Given the description of an element on the screen output the (x, y) to click on. 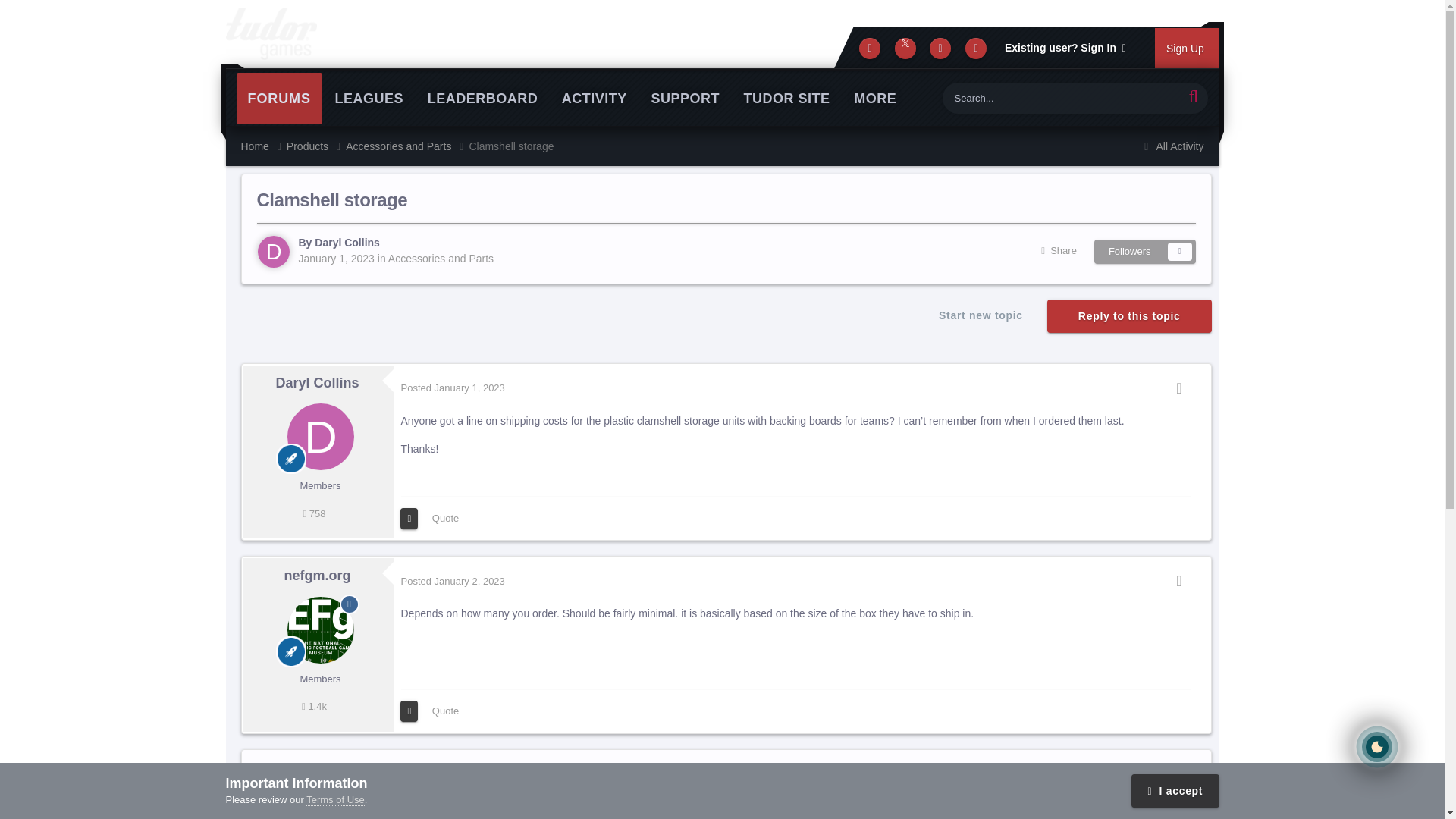
 Share (1058, 251)
Go to Daryl Collins's profile (272, 251)
Go to Daryl Collins's profile (316, 382)
Accessories and Parts (440, 258)
Sign in to follow this (1144, 251)
Home (263, 146)
Accessories and Parts (407, 146)
FORUMS (277, 98)
LEAGUES (369, 98)
LEADERBOARD (482, 98)
Sign Up (1187, 47)
Go to Daryl Collins's profile (320, 436)
TUDOR SITE (787, 98)
ACTIVITY (594, 98)
Start a new topic in this forum (980, 315)
